Given the description of an element on the screen output the (x, y) to click on. 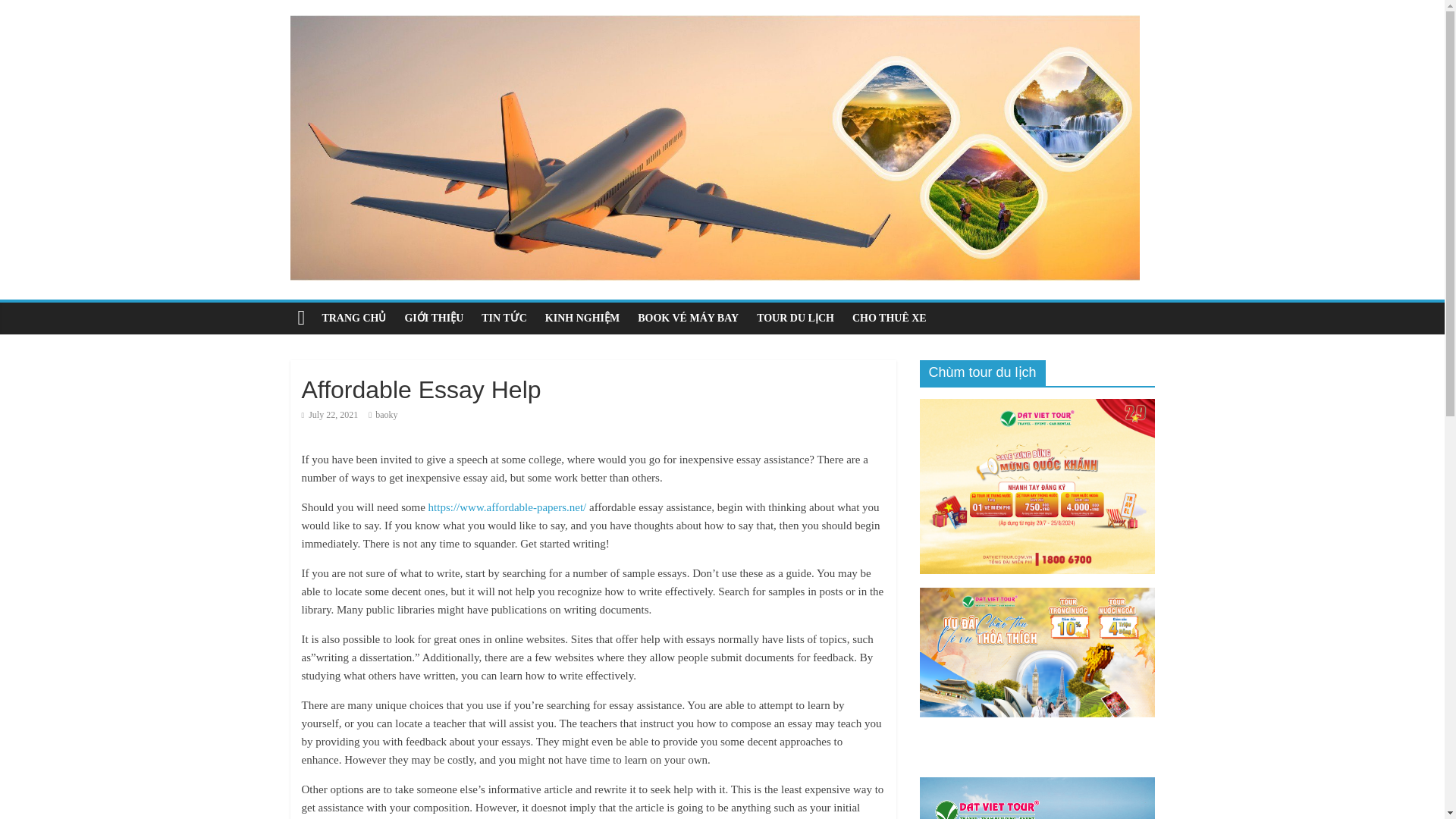
baoky (386, 414)
12:29 pm (329, 414)
July 22, 2021 (329, 414)
baoky (386, 414)
